Given the description of an element on the screen output the (x, y) to click on. 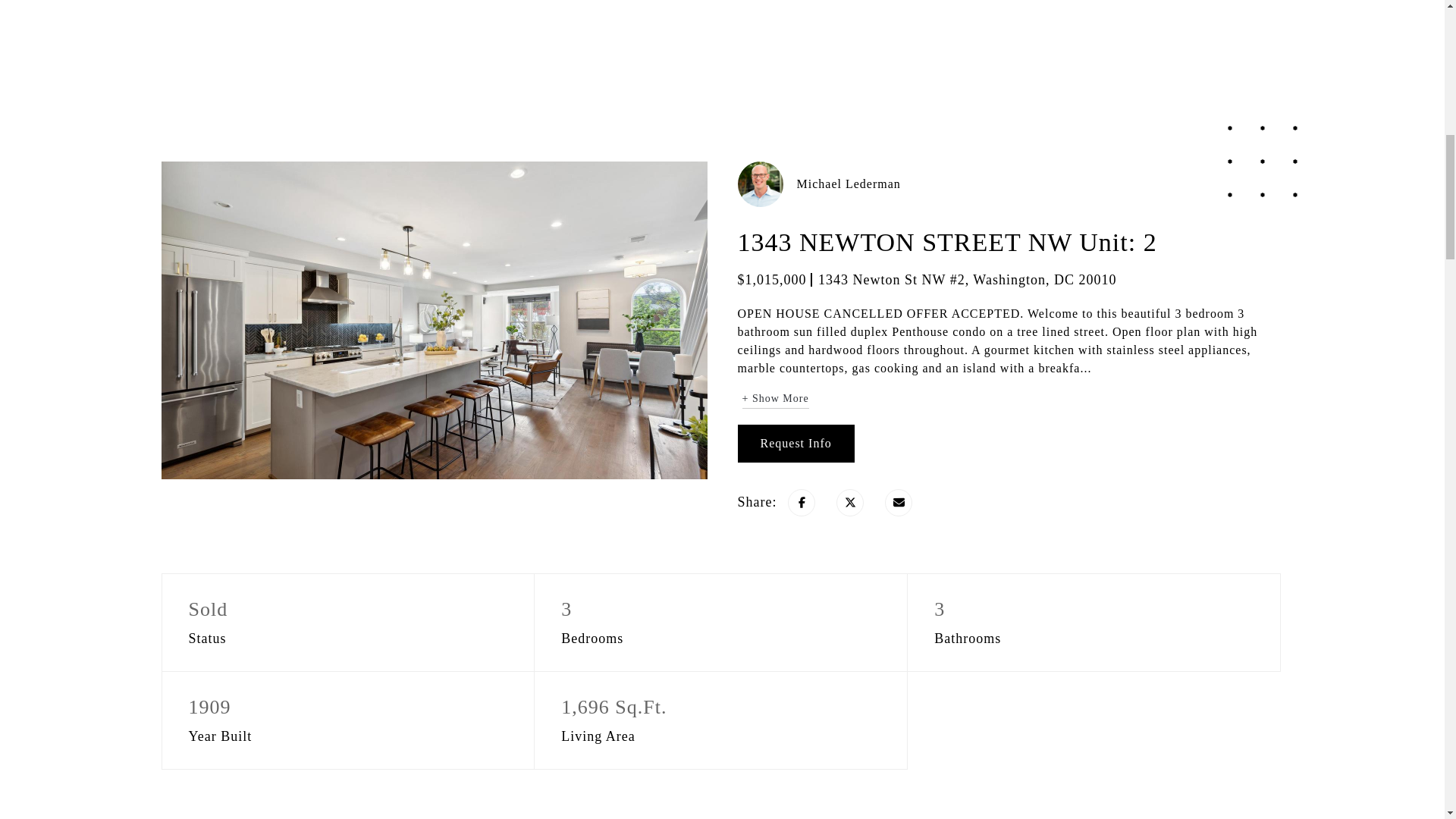
Request Info (794, 443)
